Given the description of an element on the screen output the (x, y) to click on. 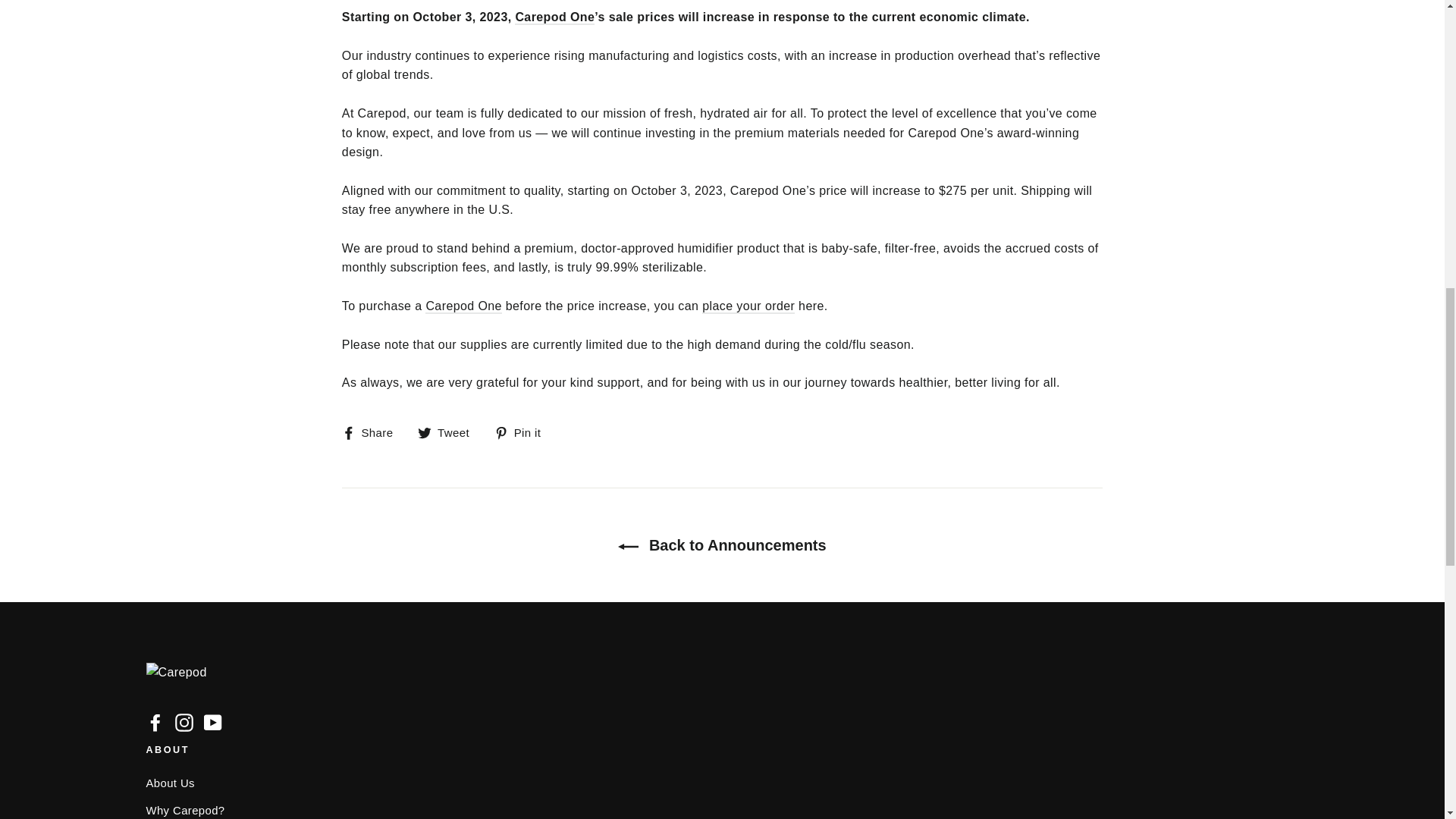
Carepod One (462, 306)
Tweet on Twitter (448, 432)
Pin on Pinterest (523, 432)
Carepod on Instagram (183, 722)
Carepod on Facebook (154, 722)
Share on Facebook (373, 432)
Carepod One (554, 17)
Carepod on YouTube (212, 722)
